Given the description of an element on the screen output the (x, y) to click on. 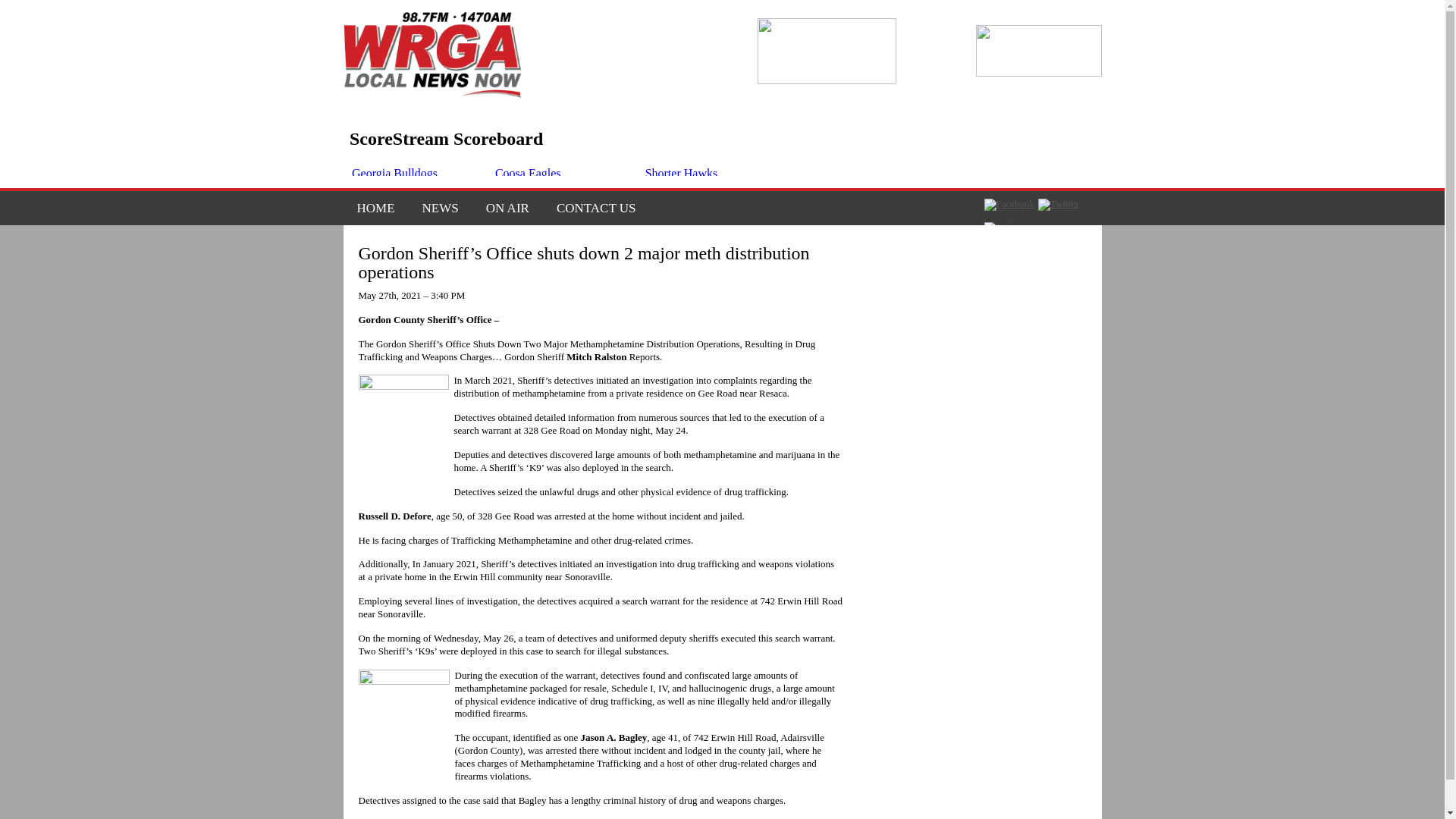
ON AIR (507, 207)
NEWS (440, 207)
Podcasts (1007, 227)
Twitter (1058, 204)
CONTACT US (589, 207)
Facebook (1009, 204)
HOME (374, 207)
